Given the description of an element on the screen output the (x, y) to click on. 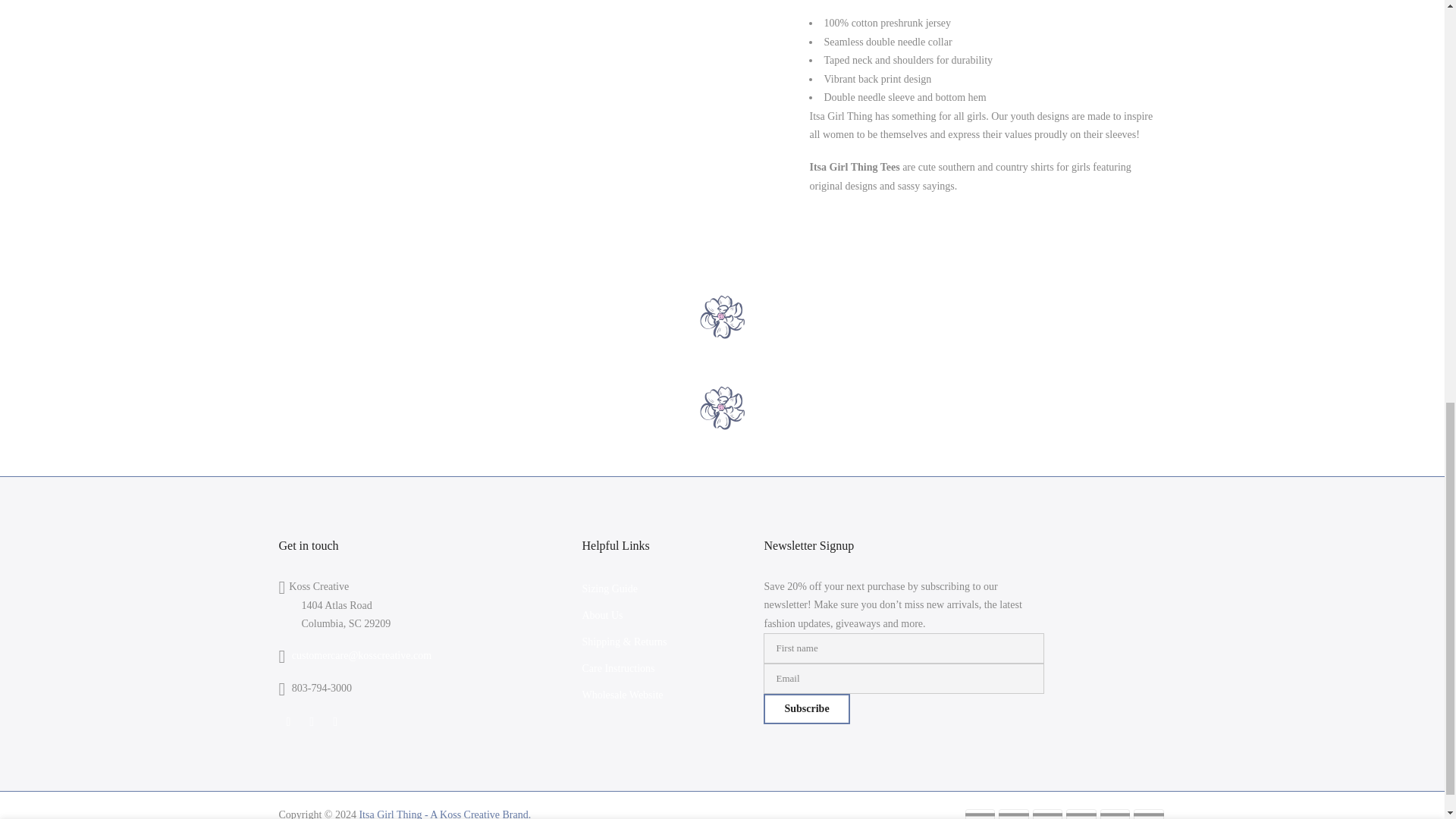
1 (1001, 35)
